Given the description of an element on the screen output the (x, y) to click on. 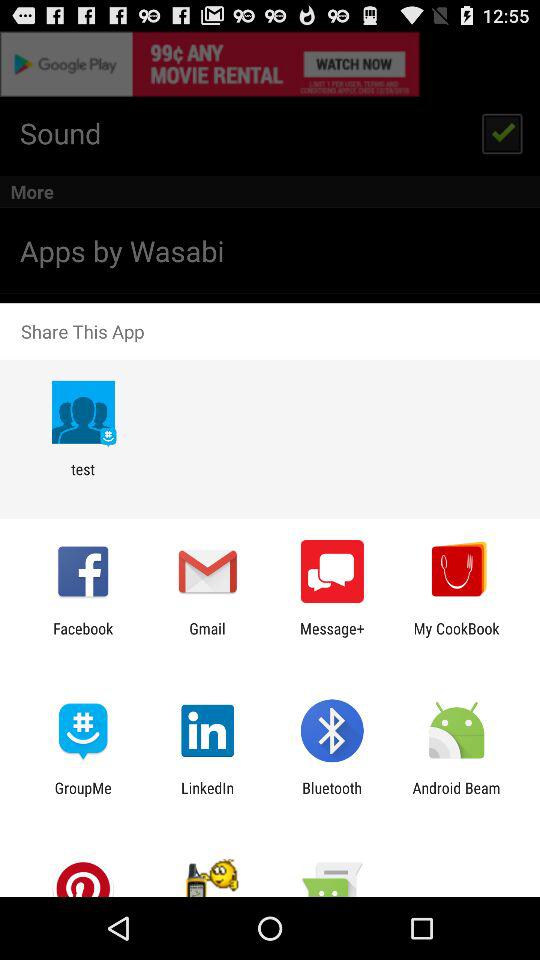
turn on the icon to the left of the bluetooth (207, 796)
